Given the description of an element on the screen output the (x, y) to click on. 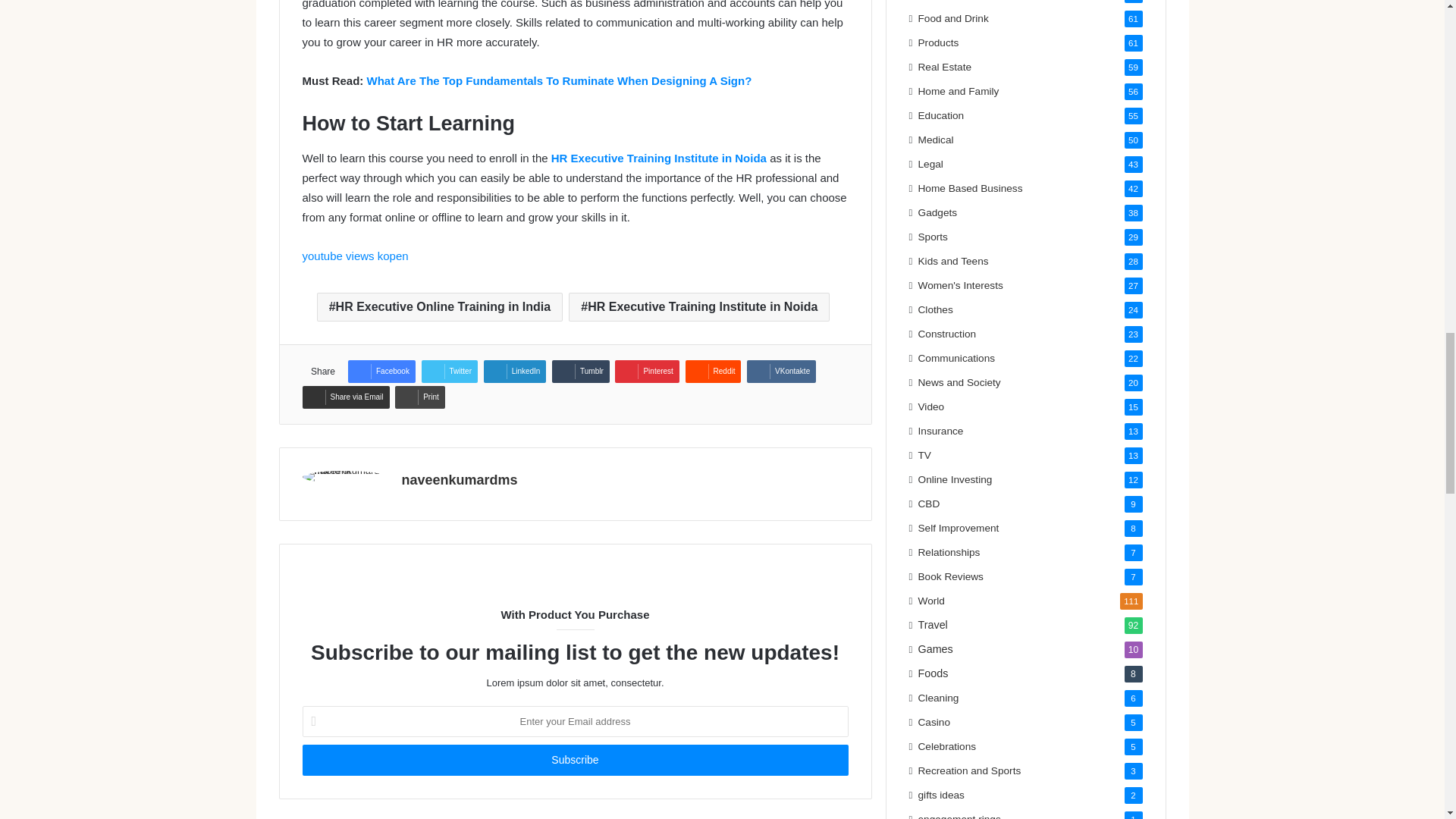
LinkedIn (515, 371)
VKontakte (780, 371)
Tumblr (580, 371)
LinkedIn (515, 371)
Subscribe (574, 759)
Pinterest (646, 371)
Twitter (449, 371)
HR Executive Online Training in India (440, 306)
Facebook (380, 371)
Facebook (380, 371)
Twitter (449, 371)
HR Executive Training Institute in Noida (699, 306)
HR Executive Training Institute in Noida (659, 157)
Reddit (713, 371)
